Given the description of an element on the screen output the (x, y) to click on. 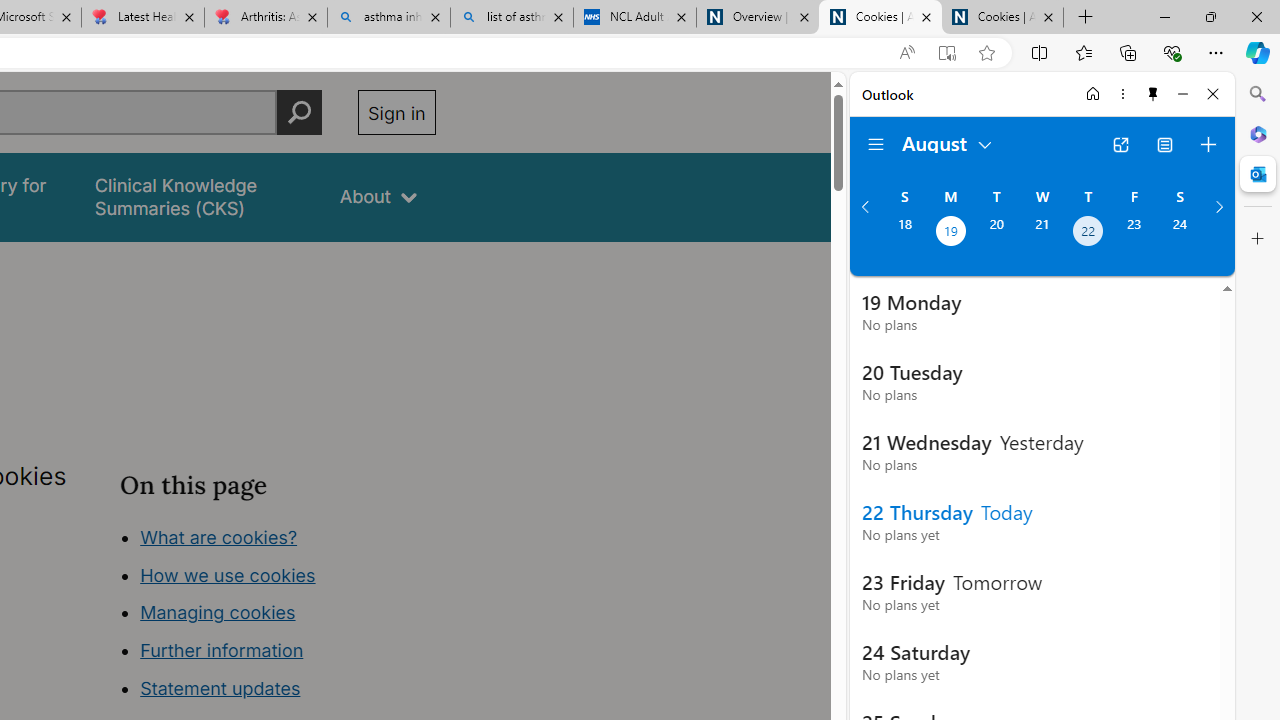
Arthritis: Ask Health Professionals (265, 17)
Thursday, August 22, 2024. Today.  (1088, 233)
Wednesday, August 21, 2024.  (1042, 233)
NCL Adult Asthma Inhaler Choice Guideline (634, 17)
How we use cookies (227, 574)
Saturday, August 24, 2024.  (1180, 233)
Folder navigation (876, 144)
